Given the description of an element on the screen output the (x, y) to click on. 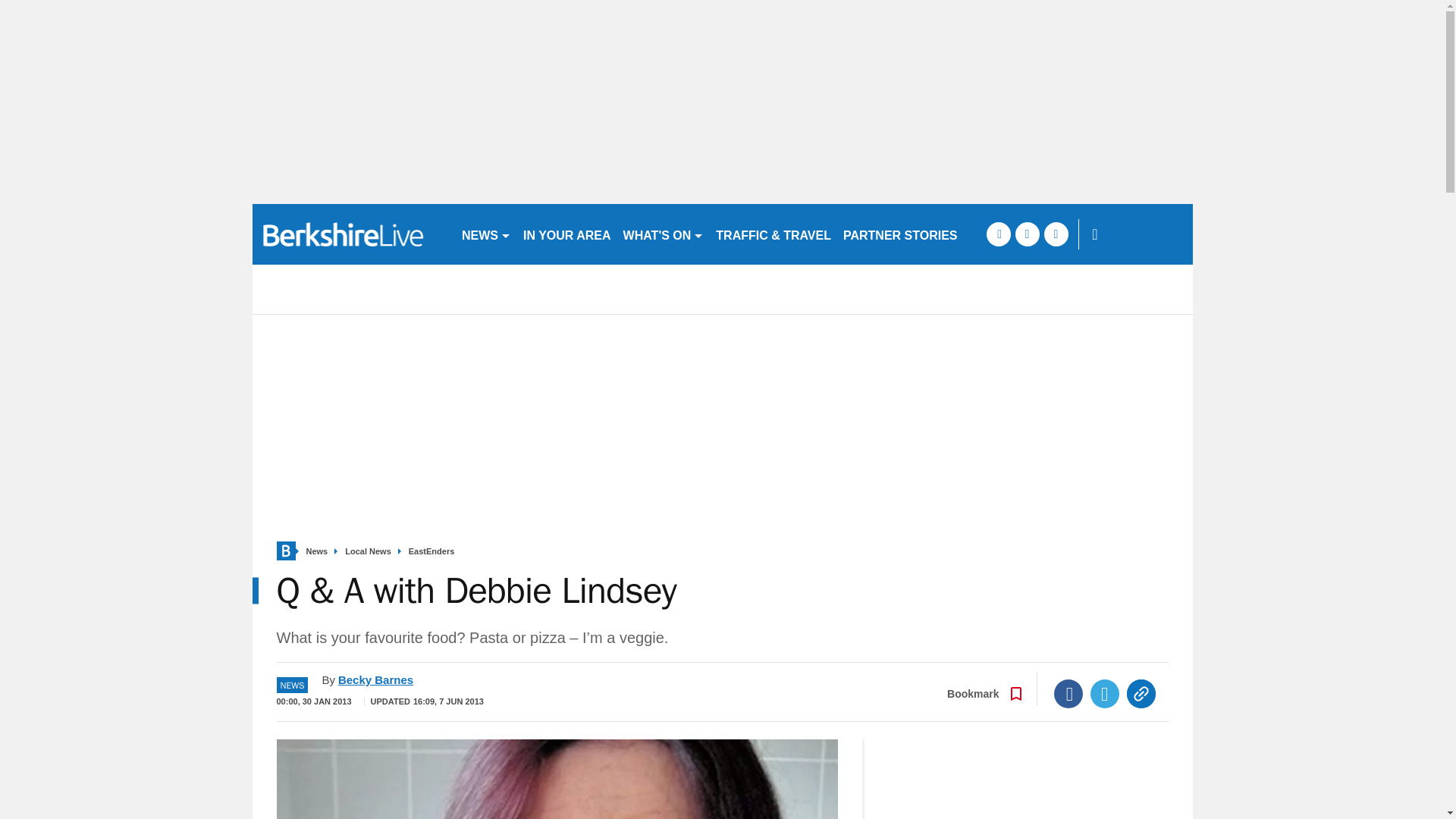
instagram (1055, 233)
PARTNER STORIES (900, 233)
Facebook (1068, 693)
NEWS (485, 233)
IN YOUR AREA (566, 233)
WHAT'S ON (663, 233)
Twitter (1104, 693)
getreading (349, 233)
facebook (997, 233)
twitter (1026, 233)
